Given the description of an element on the screen output the (x, y) to click on. 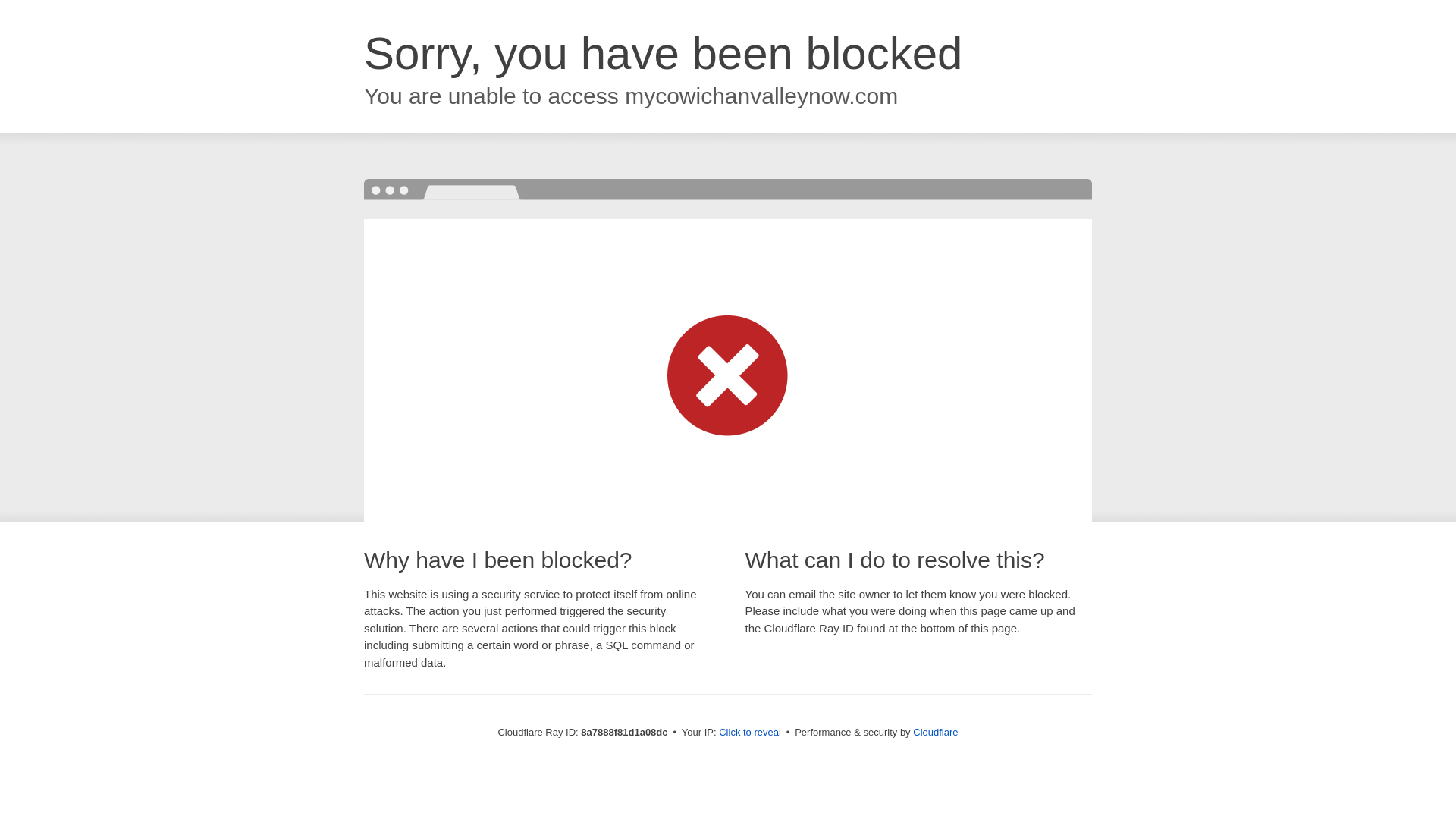
Click to reveal (749, 732)
Cloudflare (935, 731)
